Given the description of an element on the screen output the (x, y) to click on. 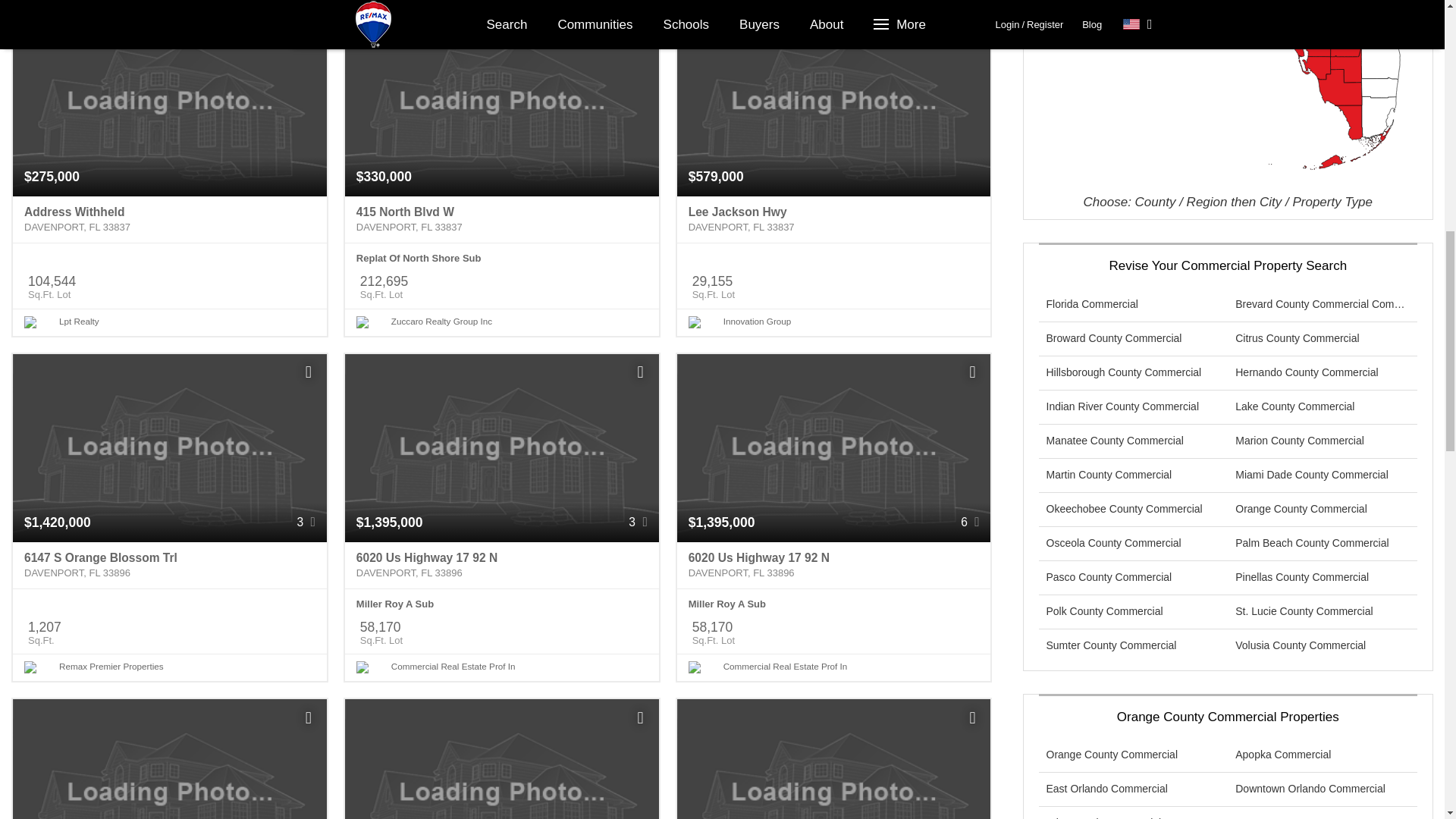
Address Withheld Davenport,  FL 33837 (169, 219)
415 North Blvd W Davenport,  FL 33837 (502, 219)
Lee Jackson Hwy Davenport,  FL 33837 (834, 219)
